Given the description of an element on the screen output the (x, y) to click on. 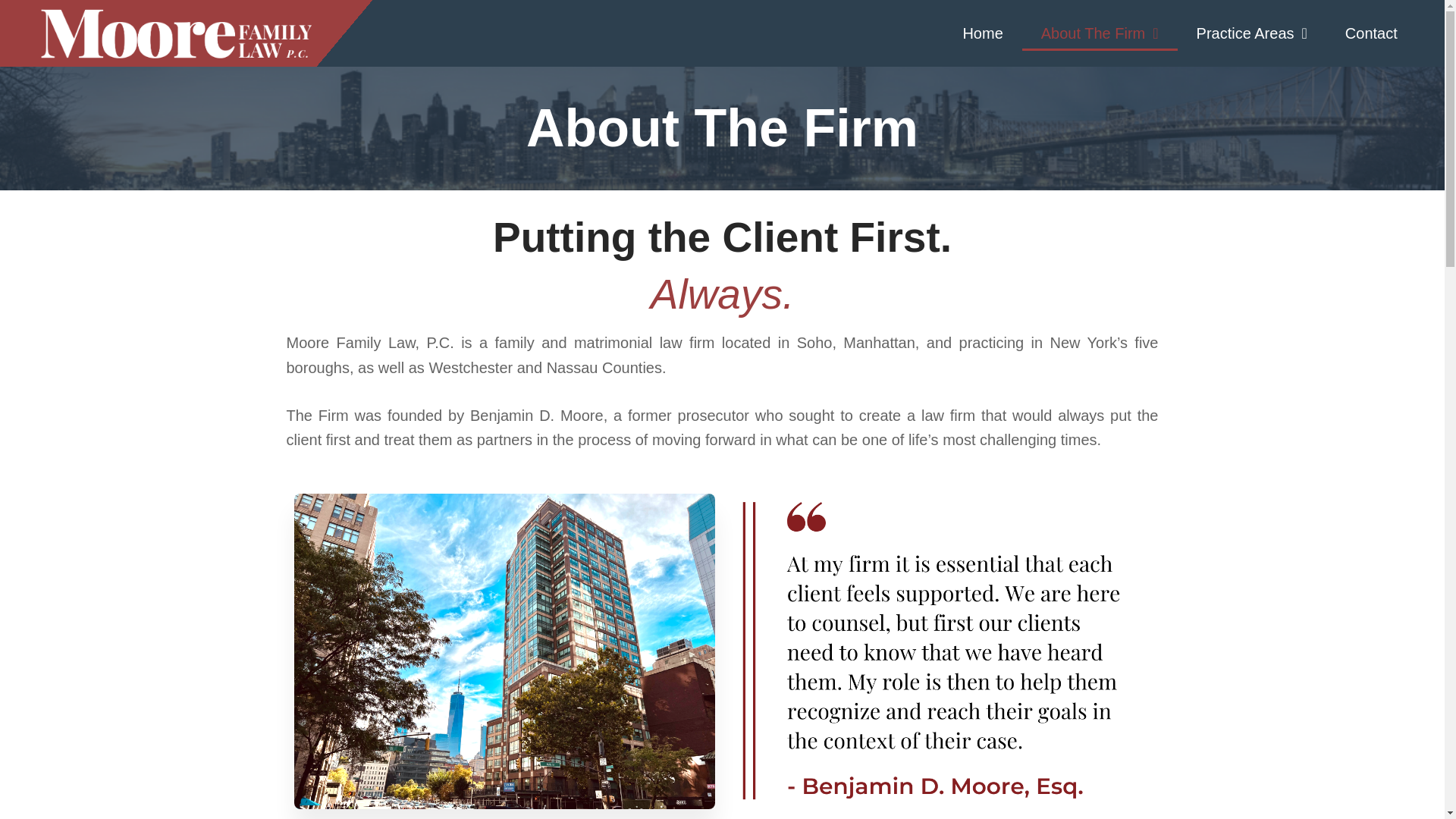
Practice Areas (1251, 32)
Contact (1371, 32)
Home (982, 32)
About The Firm (1099, 32)
